Given the description of an element on the screen output the (x, y) to click on. 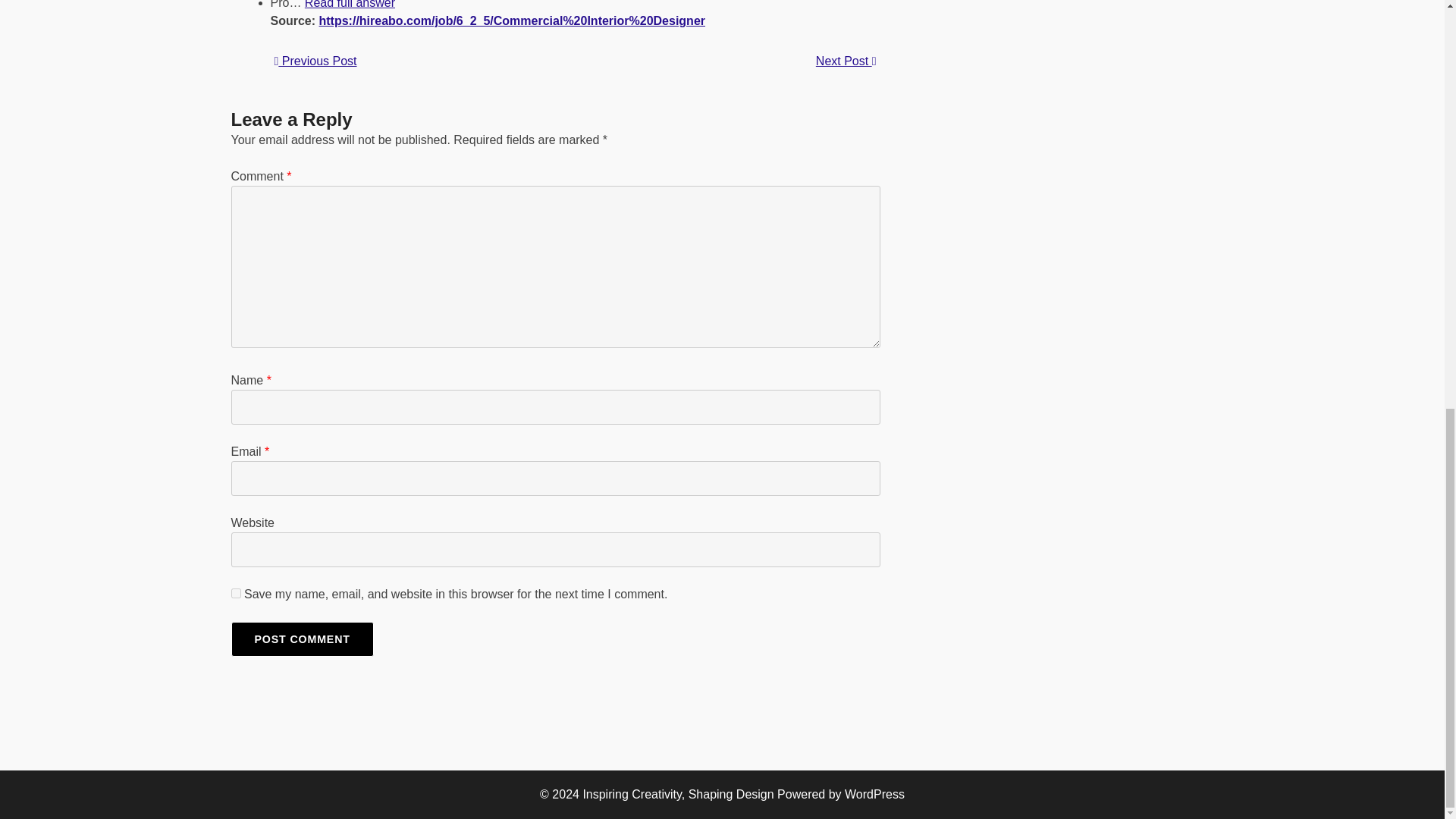
Previous Post (315, 60)
yes (235, 593)
Next Post (845, 61)
Post Comment (301, 638)
Read full answer (349, 4)
Post Comment (301, 638)
